Given the description of an element on the screen output the (x, y) to click on. 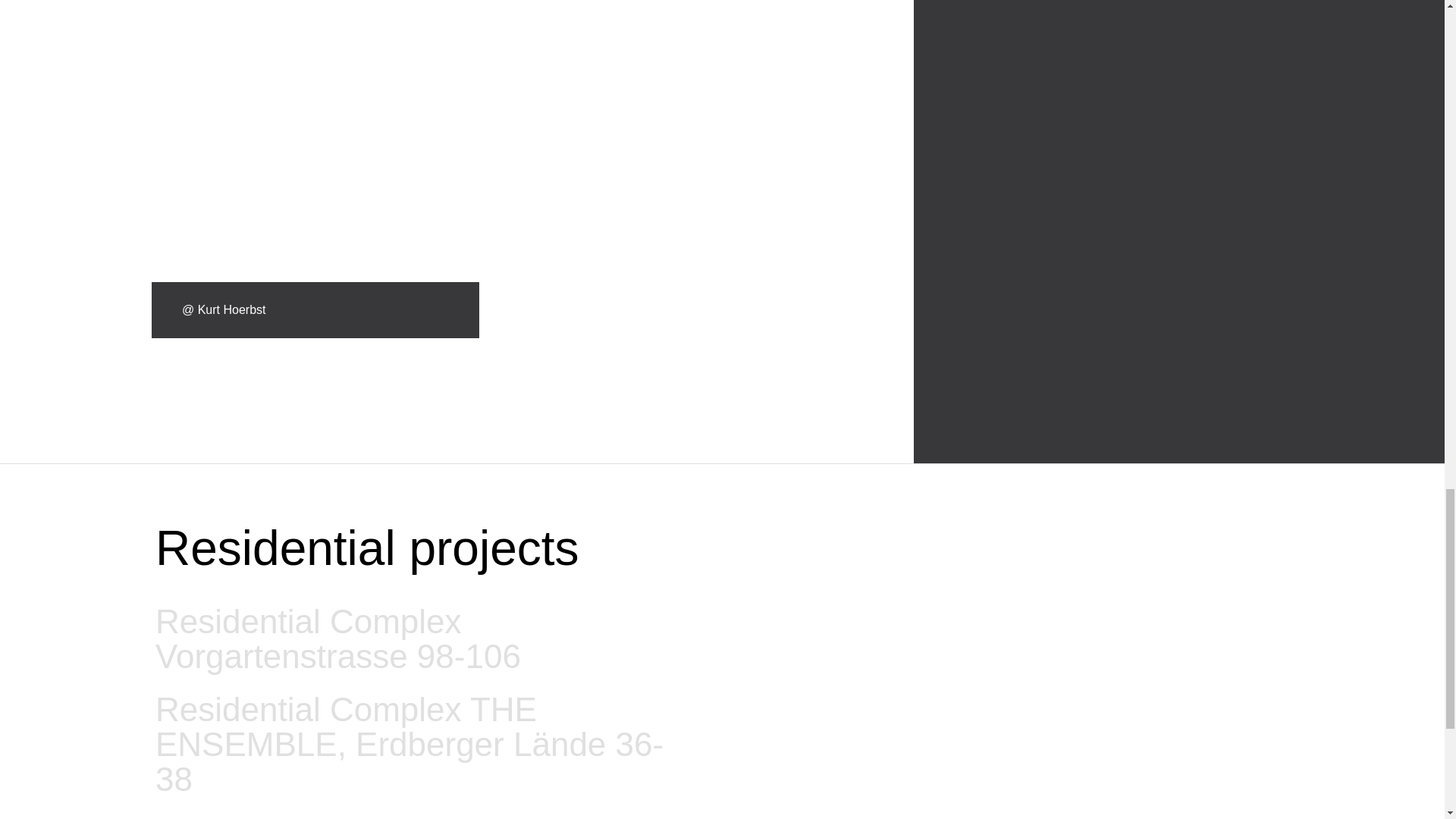
Residential Complex Vorgartenstrasse 98-106 (413, 639)
Residential Highrise HELIO Tower (407, 812)
